Given the description of an element on the screen output the (x, y) to click on. 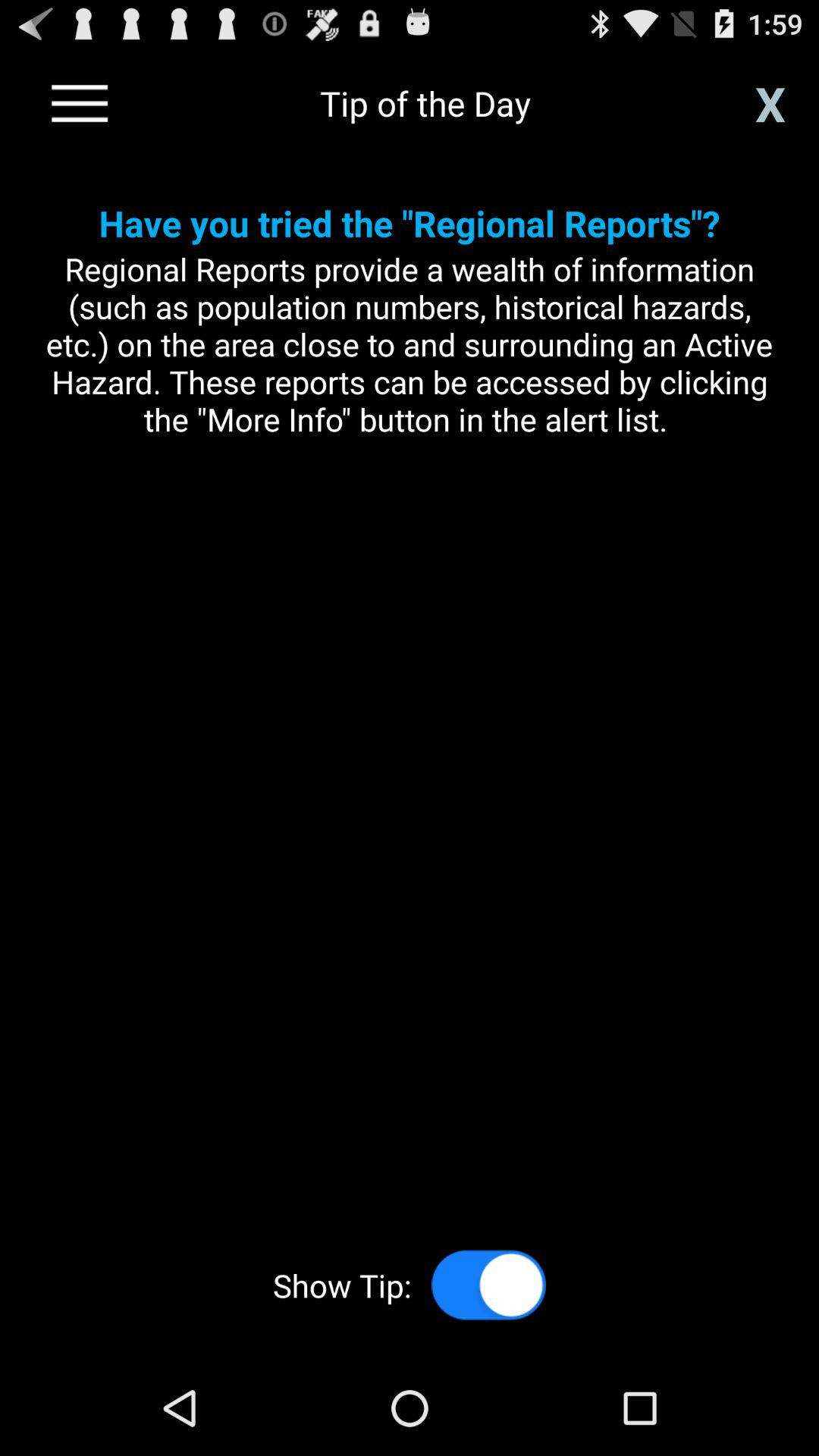
click to see the menu (79, 103)
